Given the description of an element on the screen output the (x, y) to click on. 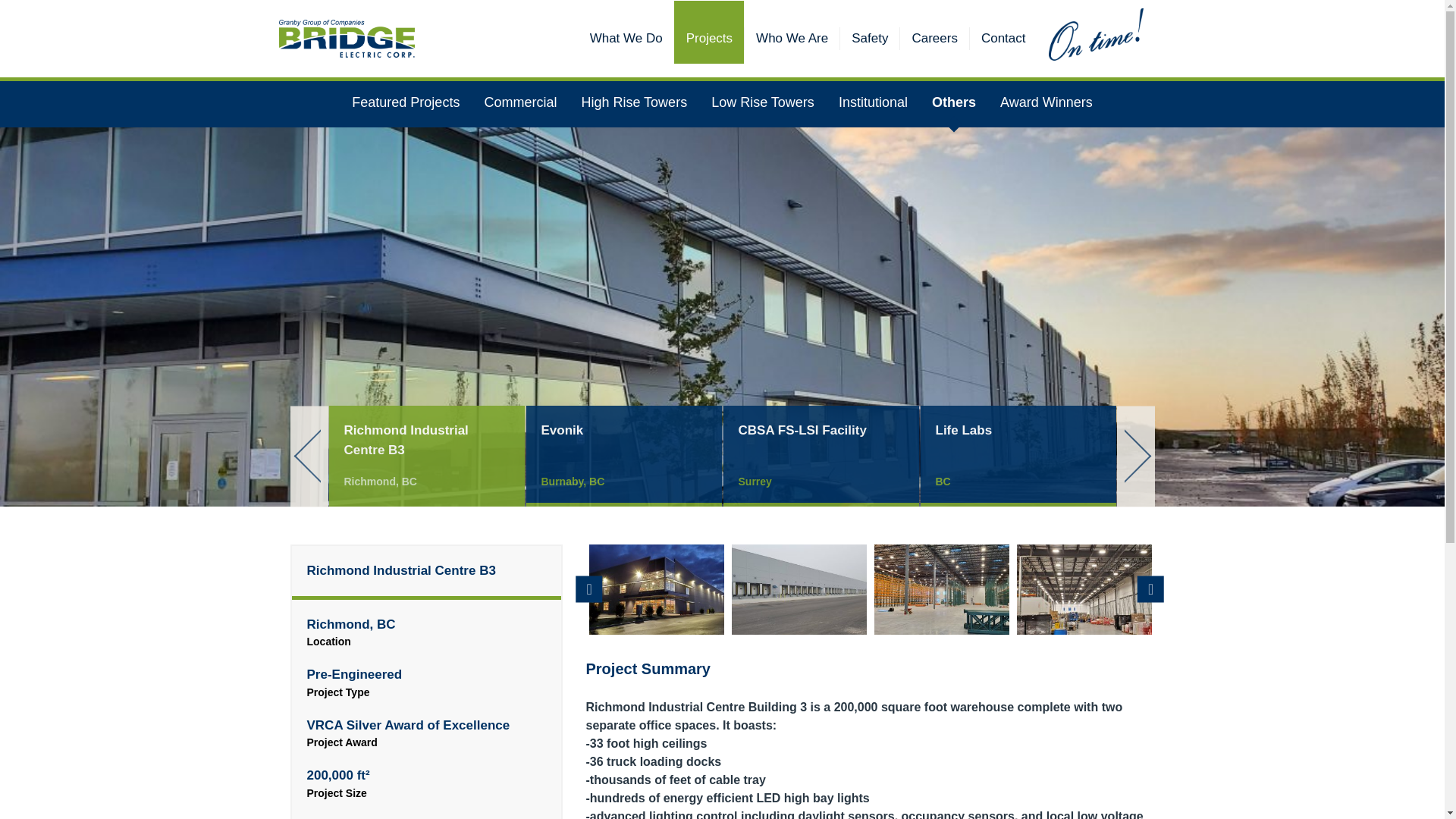
Safety (869, 38)
Who We Are (792, 38)
Careers (933, 38)
Projects (709, 38)
What We Do (626, 38)
Contact (1002, 38)
